Given the description of an element on the screen output the (x, y) to click on. 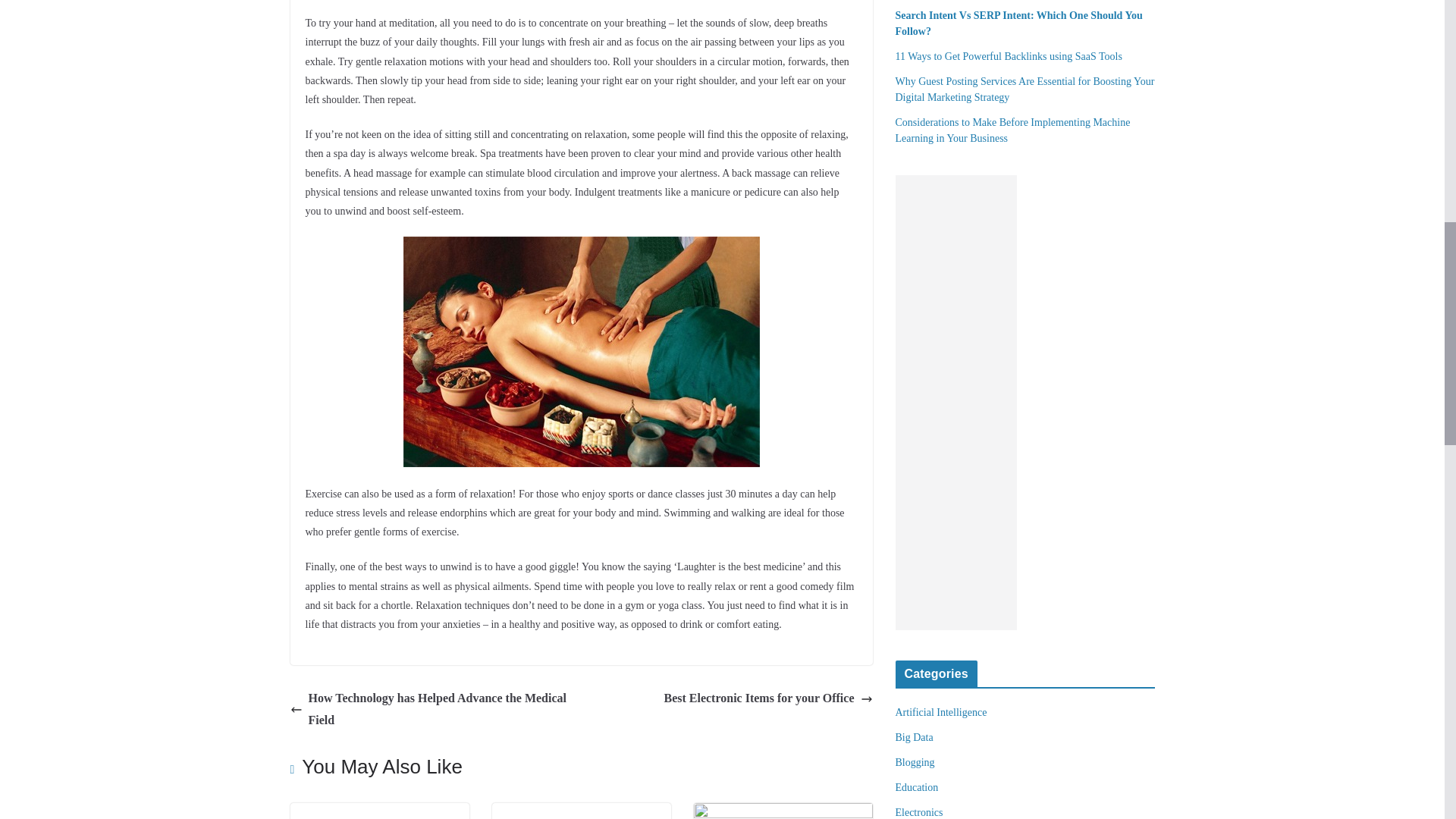
Best Electronic Items for your Office (767, 698)
1359374434535 (581, 351)
How Technology has Helped Advance the Medical Field (431, 709)
